Given the description of an element on the screen output the (x, y) to click on. 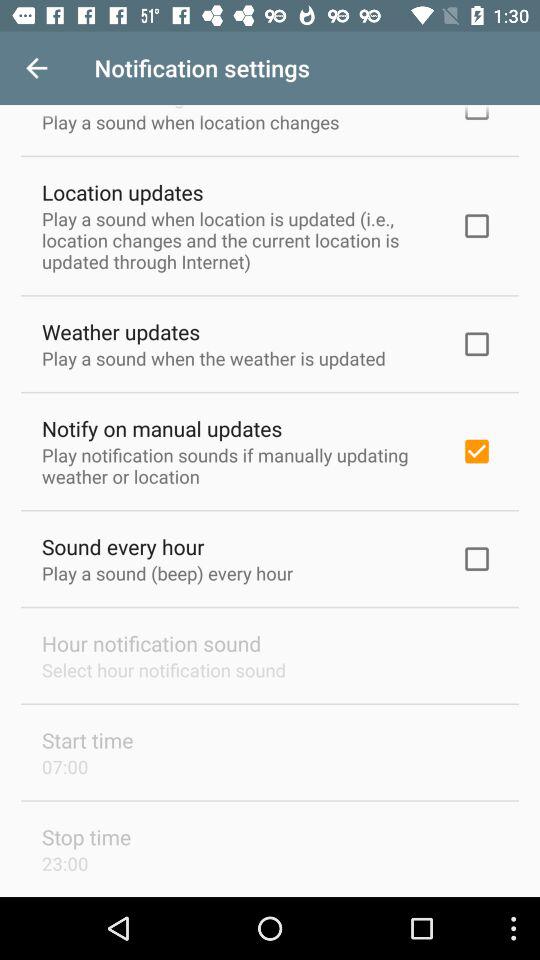
turn on the stop time icon (86, 836)
